Given the description of an element on the screen output the (x, y) to click on. 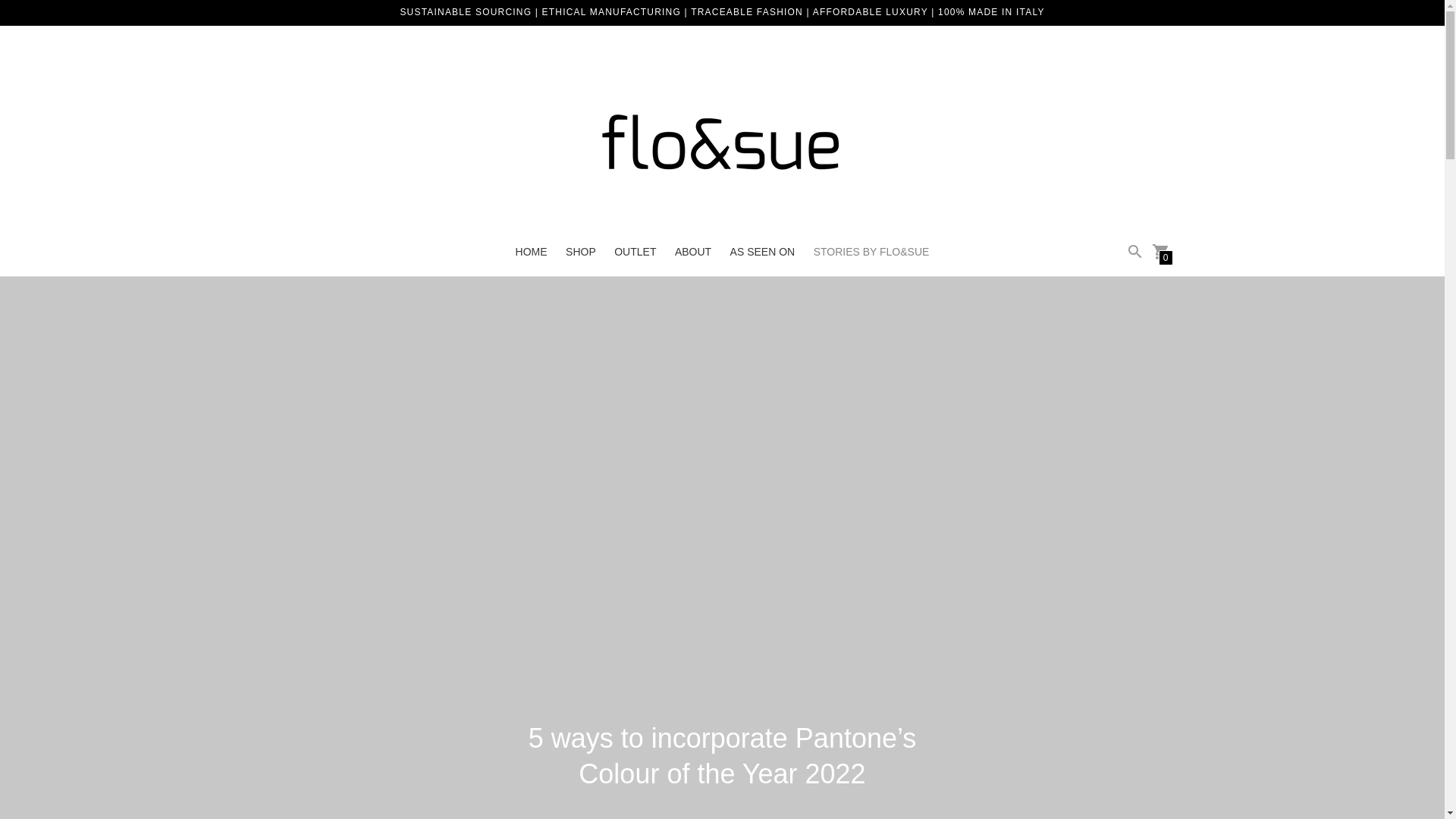
OUTLET (635, 251)
ABOUT (693, 251)
HOME (531, 251)
0 (1160, 250)
SHOP (580, 251)
AS SEEN ON (762, 251)
